Given the description of an element on the screen output the (x, y) to click on. 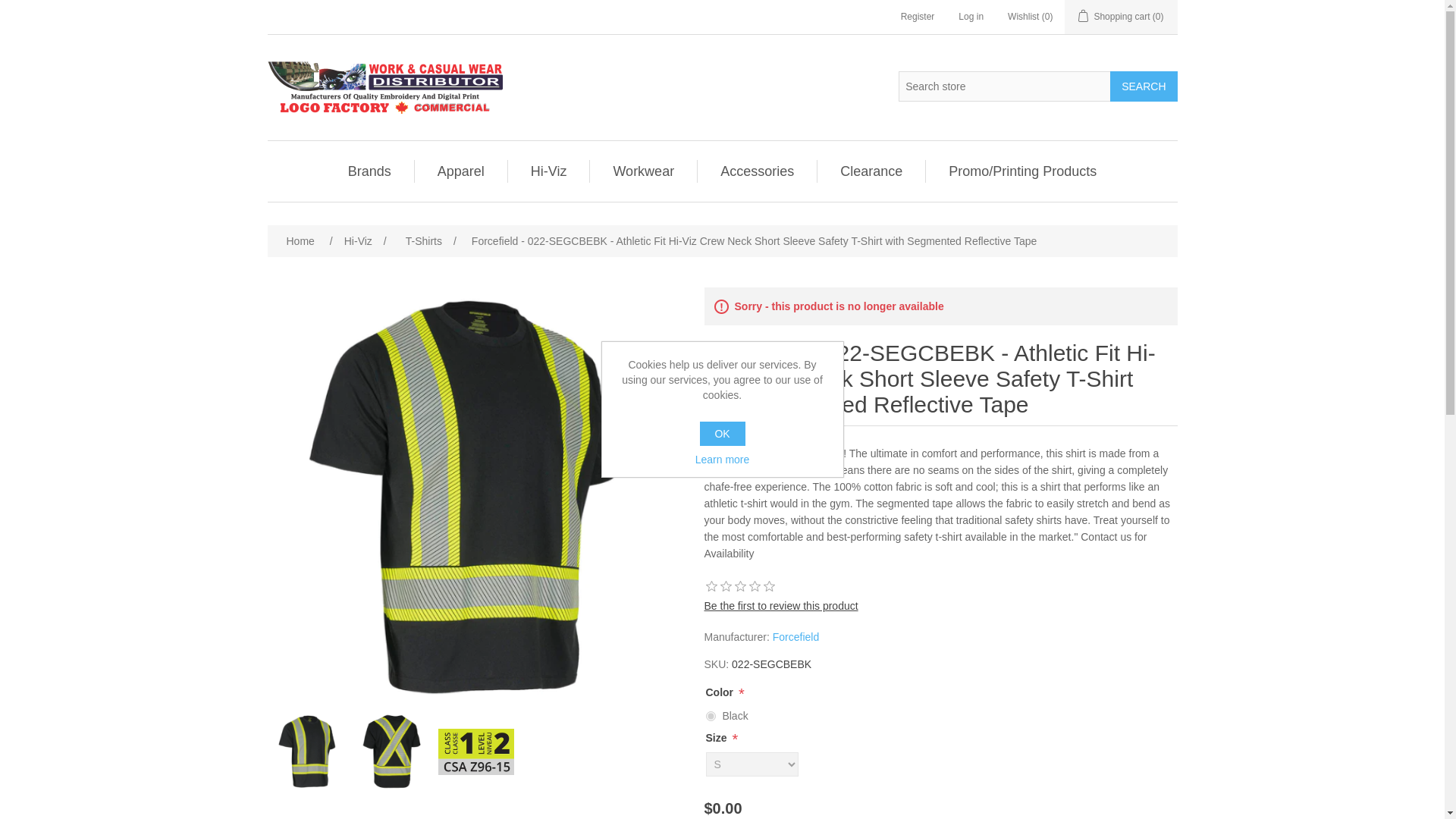
Register (917, 17)
Accessories (757, 170)
Workwear (643, 170)
SEARCH (1142, 86)
Apparel (460, 170)
Hi-Viz (548, 170)
13805 (709, 716)
Brands (369, 170)
